Given the description of an element on the screen output the (x, y) to click on. 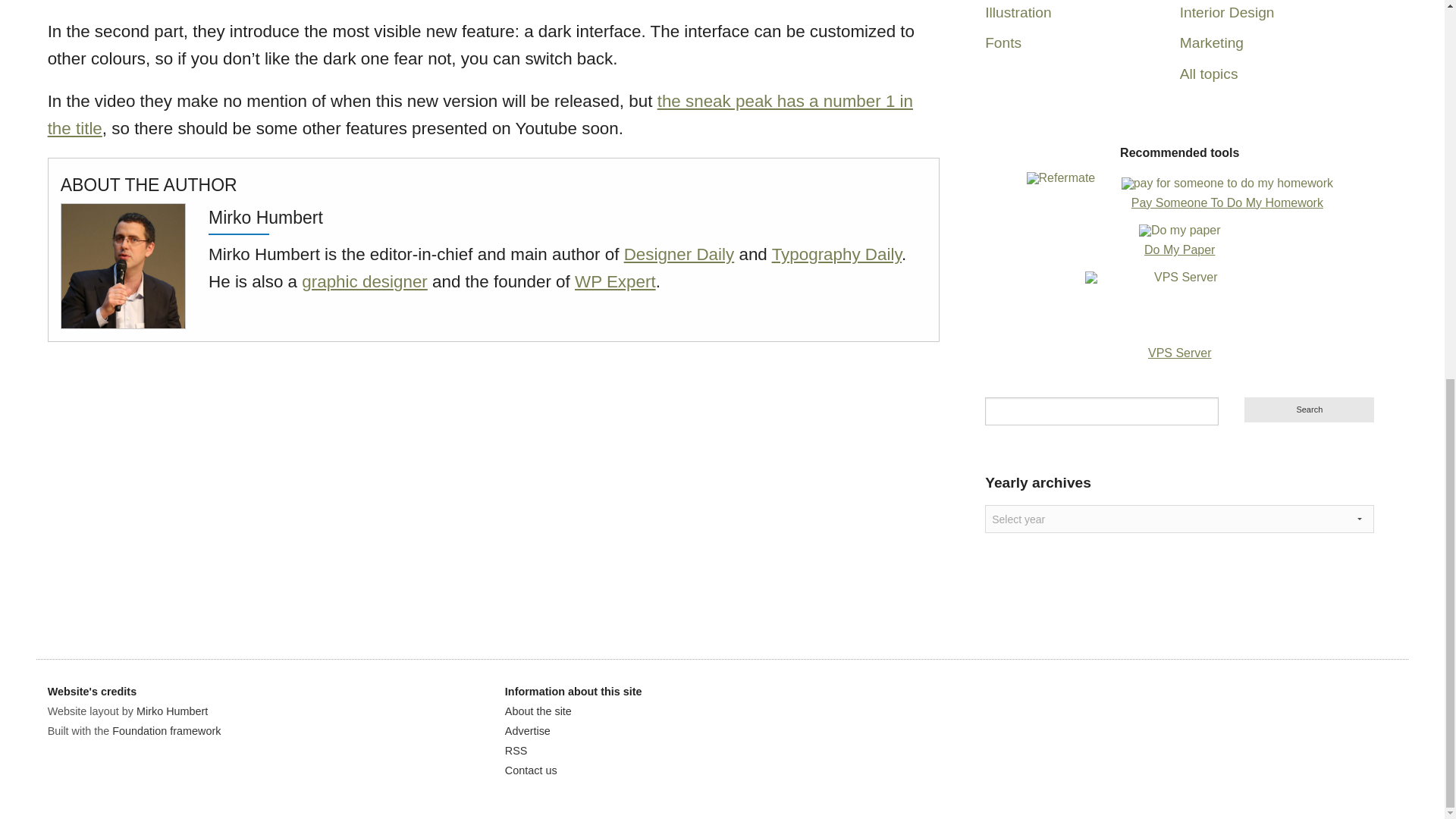
Typography Daily (836, 253)
Search (1309, 409)
Illustration (1018, 12)
Pay Someone To Do My Homework (1227, 201)
All topics (1209, 73)
Do My Paper (1179, 249)
Interior Design (1227, 12)
WP Expert (615, 281)
VPS Server (1179, 352)
Fonts (1003, 42)
